Given the description of an element on the screen output the (x, y) to click on. 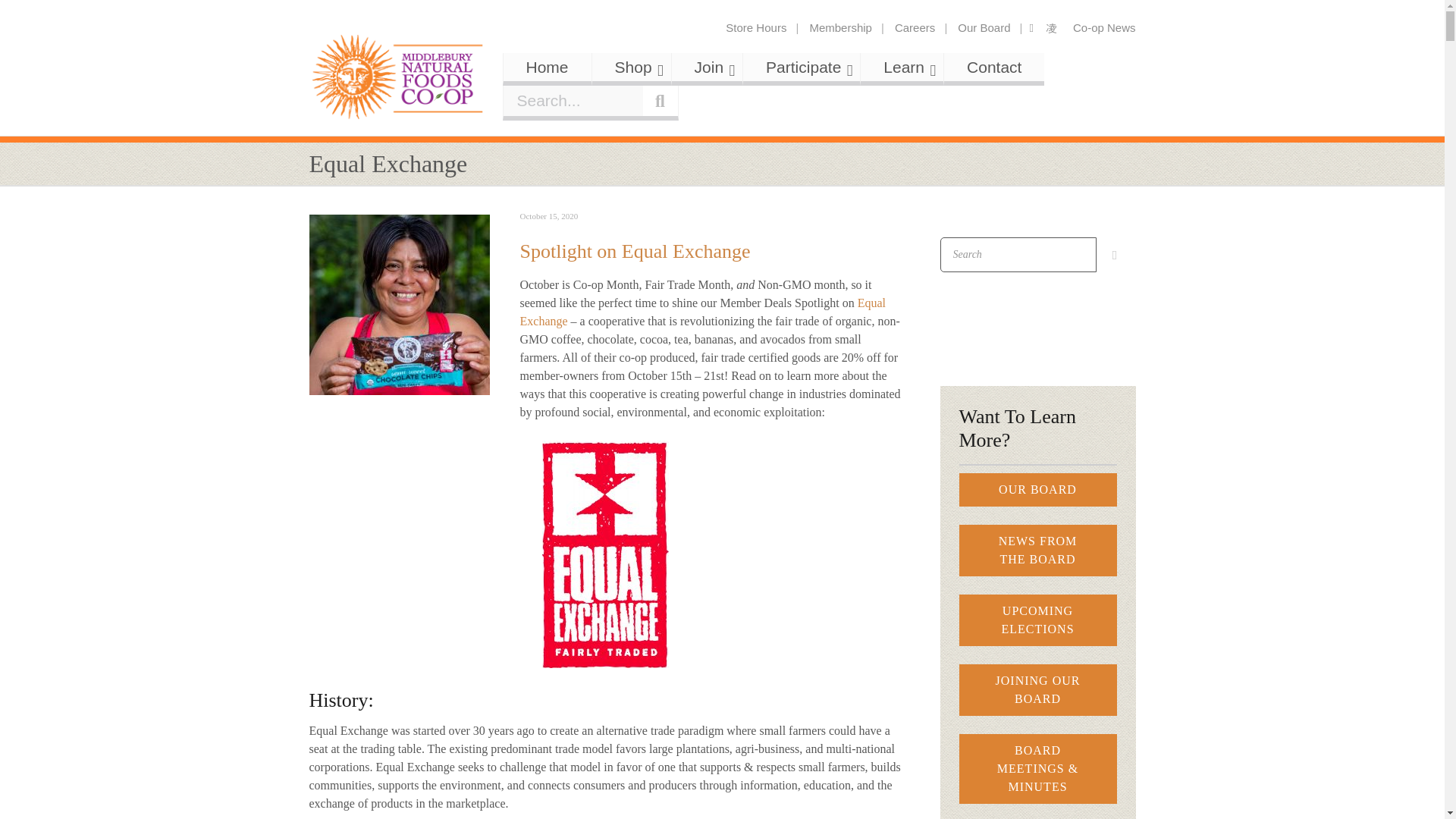
Home (547, 67)
Membership (840, 27)
View all posts from October (548, 215)
Our Board (984, 27)
Middlebury Food Co-op (397, 76)
Shop (631, 67)
Co-op News (1104, 27)
Store Hours (755, 27)
Careers (809, 86)
